Given the description of an element on the screen output the (x, y) to click on. 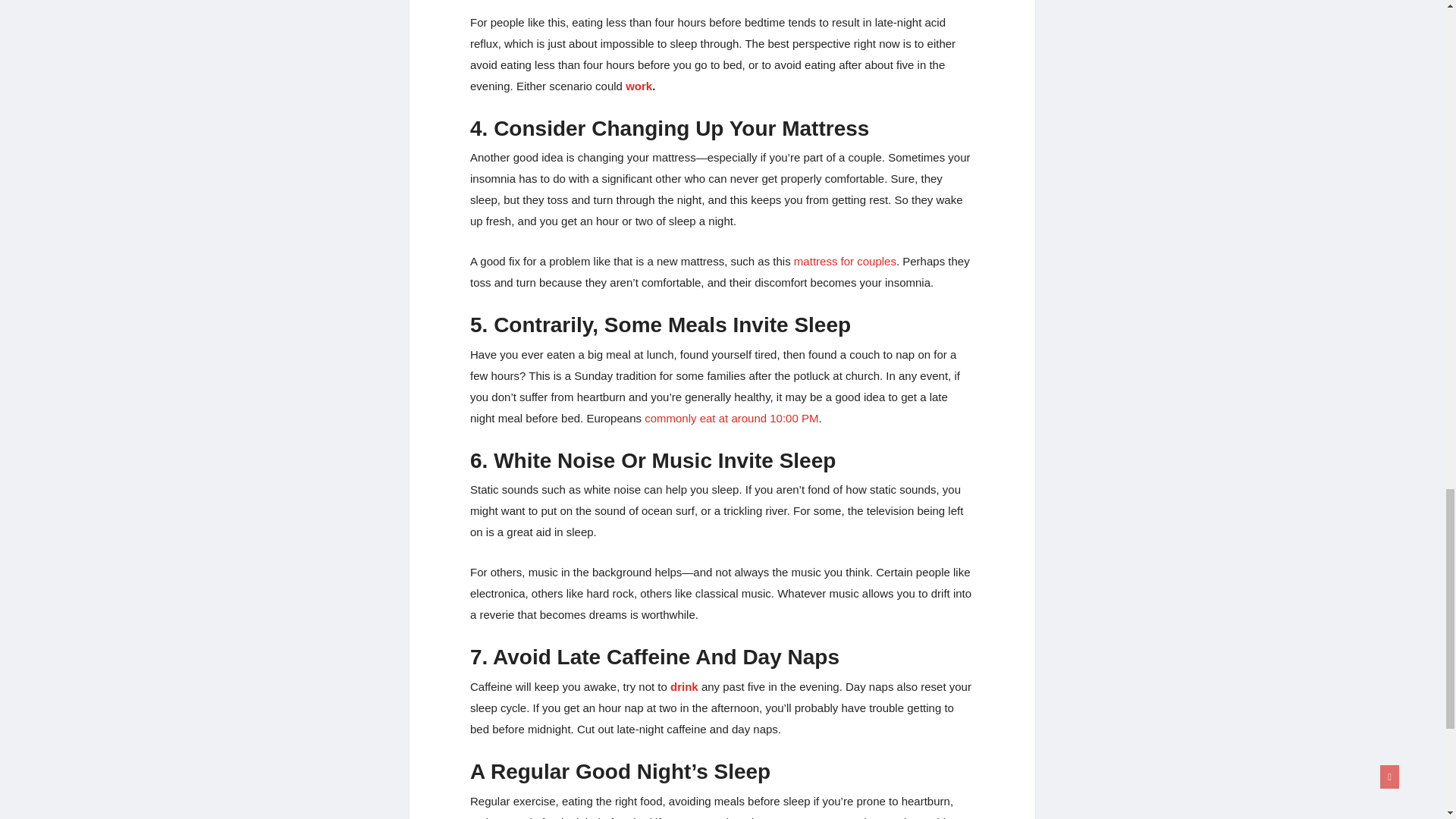
commonly eat at around 10:00 PM (730, 418)
mattress for couples (843, 260)
drink (683, 686)
work (639, 85)
